Given the description of an element on the screen output the (x, y) to click on. 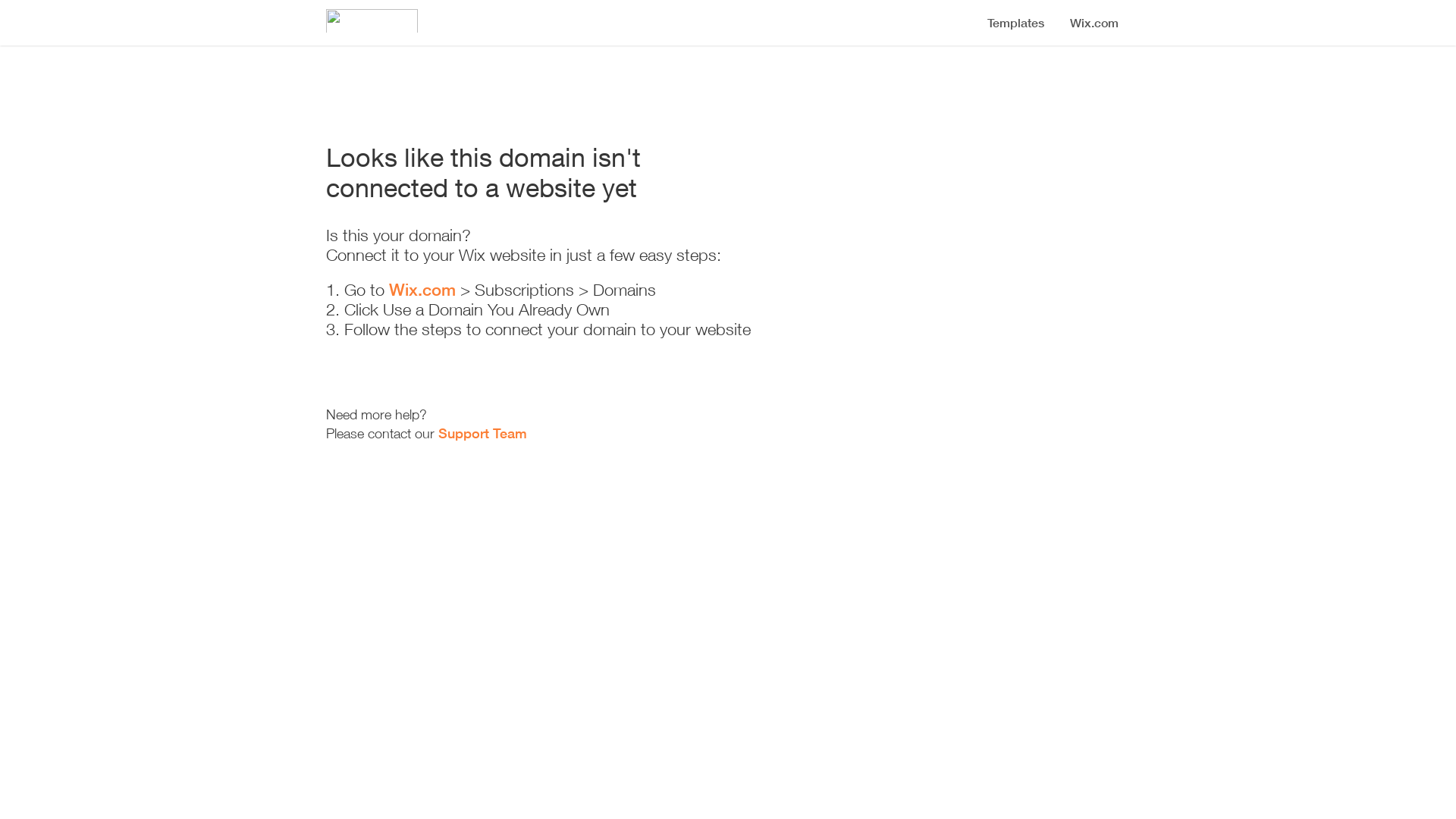
Support Team Element type: text (482, 432)
Wix.com Element type: text (422, 289)
